Given the description of an element on the screen output the (x, y) to click on. 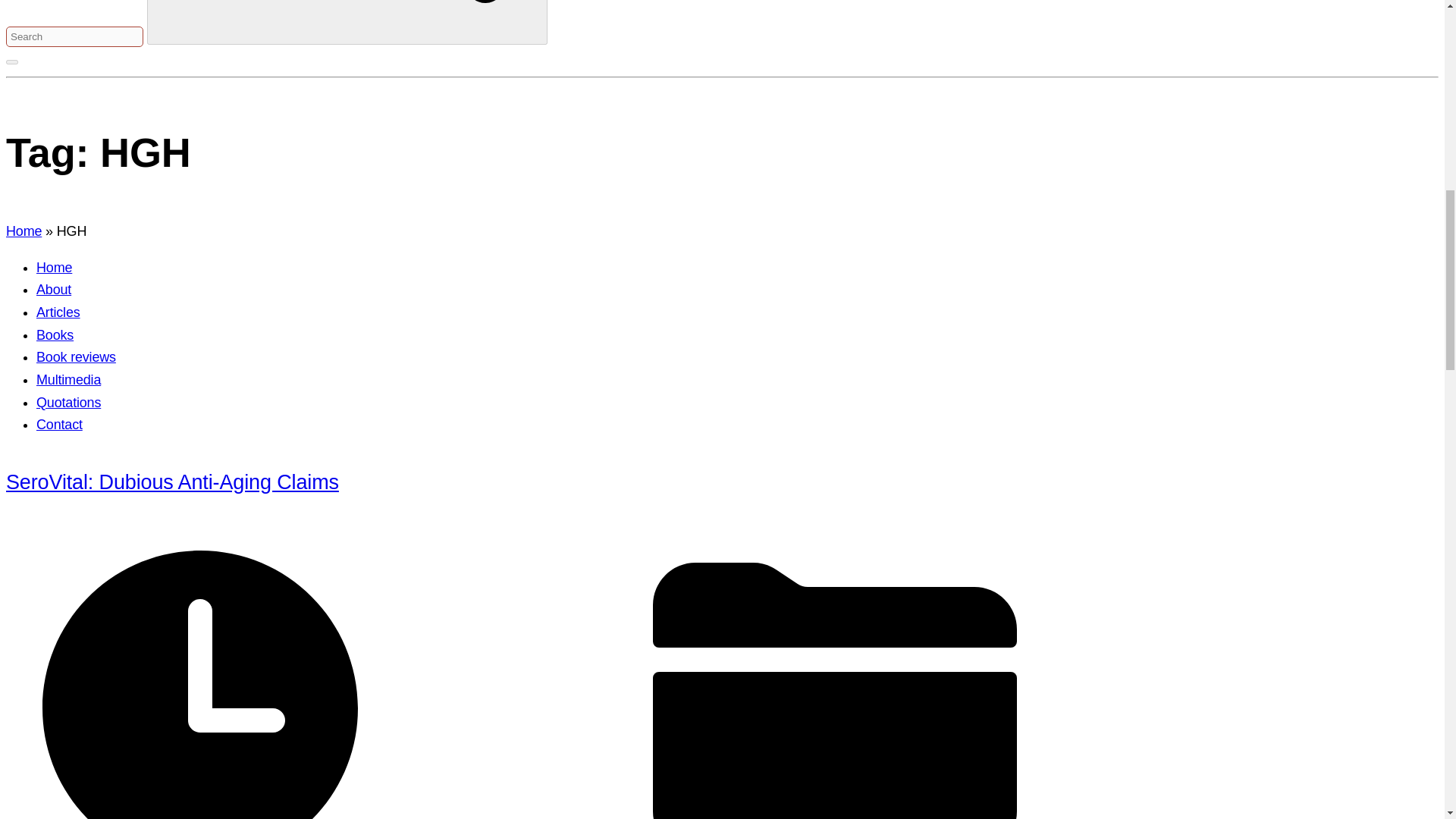
Home (53, 267)
Quotations (68, 402)
Books (55, 335)
Book reviews (76, 356)
Contact (59, 424)
Home (23, 231)
About (53, 289)
Articles (58, 312)
Multimedia (68, 379)
Search (347, 22)
